Given the description of an element on the screen output the (x, y) to click on. 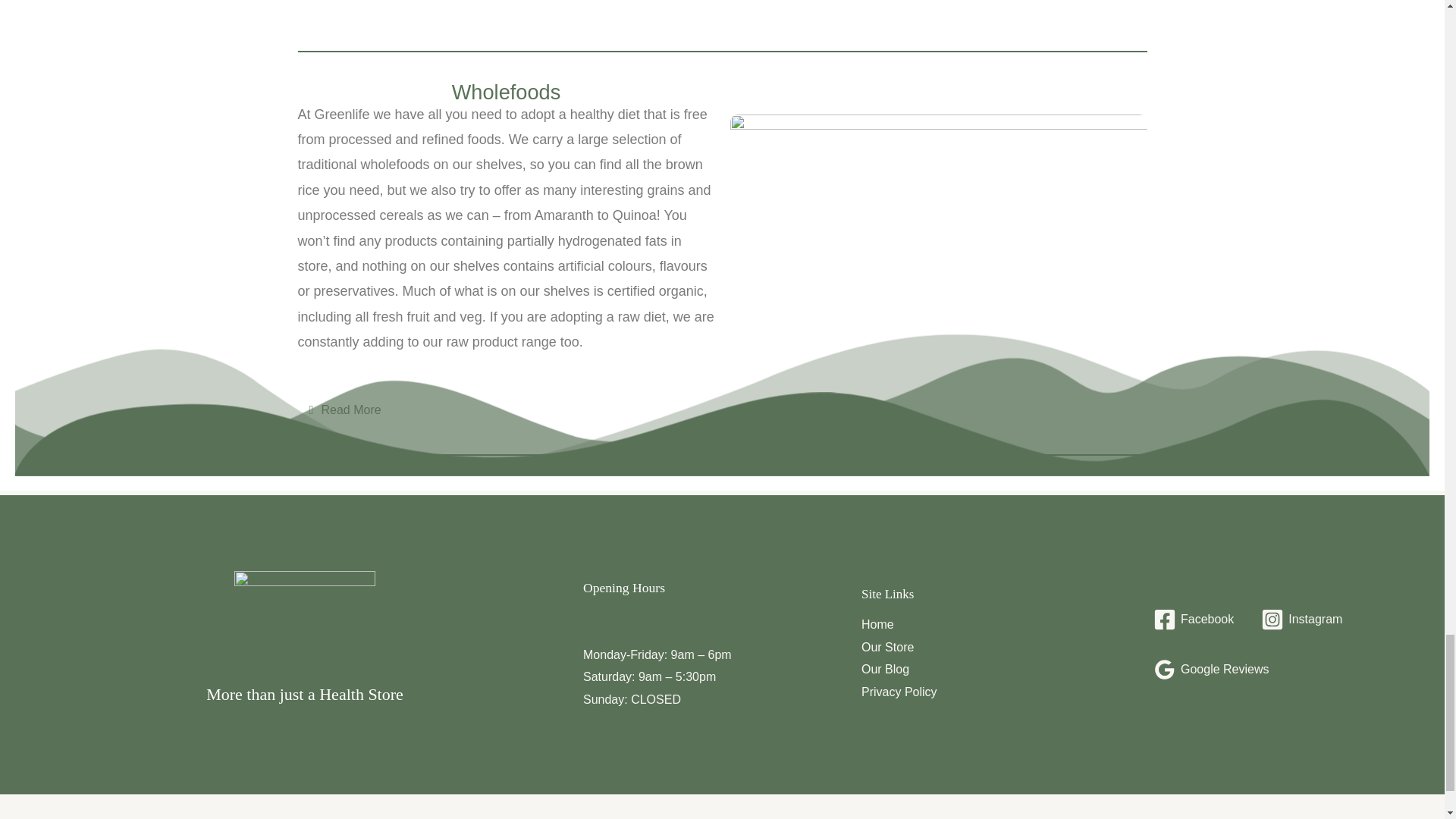
Privacy Policy (899, 691)
Home (877, 624)
Read More (351, 409)
Our Blog (884, 668)
Our Store (887, 645)
Instagram (1301, 619)
Google Reviews (1211, 669)
Facebook (1193, 619)
